Given the description of an element on the screen output the (x, y) to click on. 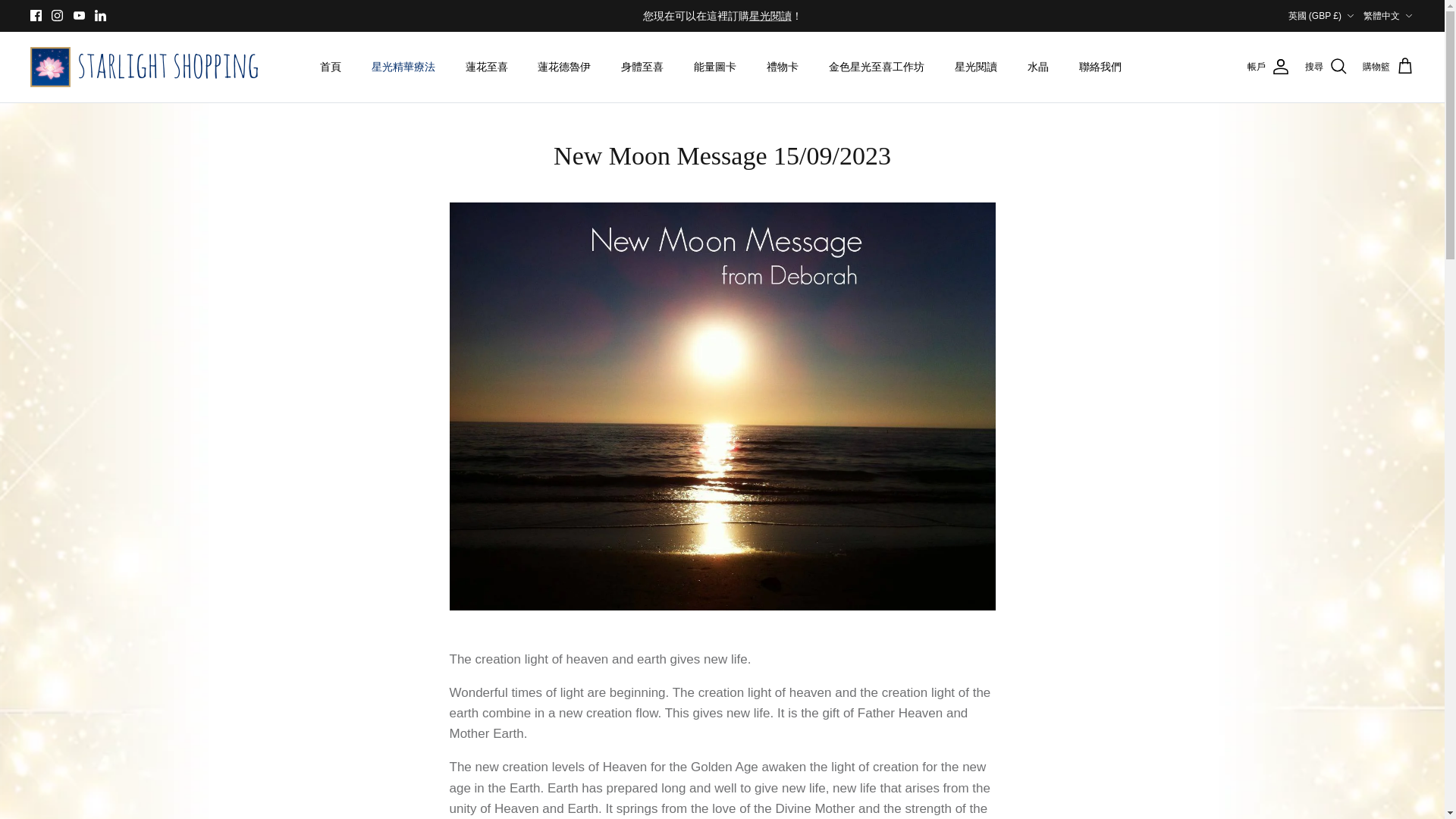
Facebook (36, 15)
Instagram (56, 15)
Youtube (79, 15)
Instagram (56, 15)
Youtube (79, 15)
Starlight Shopping (143, 66)
Facebook (36, 15)
